Given the description of an element on the screen output the (x, y) to click on. 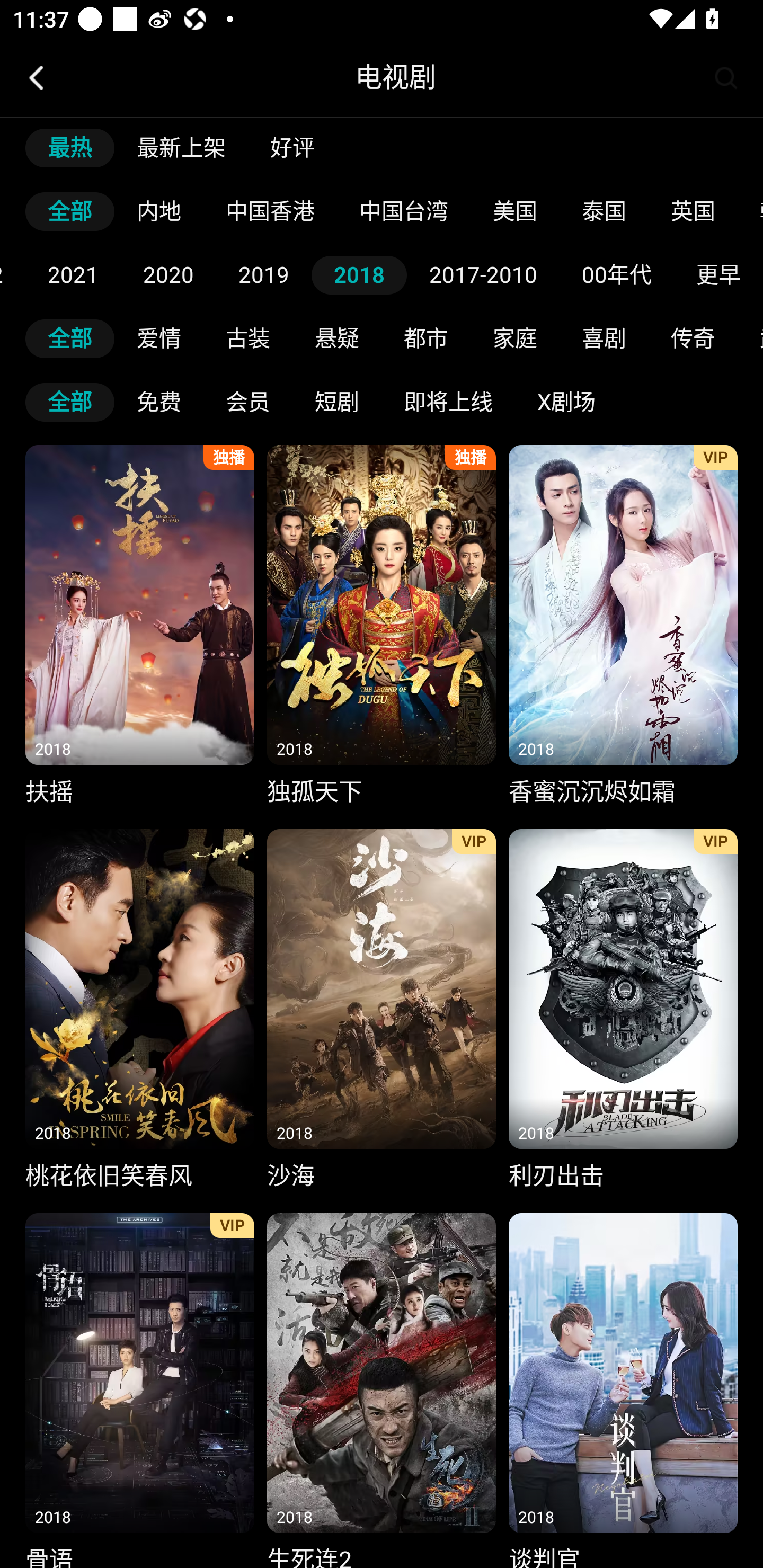
电视剧 (394, 77)
最热 (69, 147)
最新上架 (180, 147)
好评 (292, 147)
全部 (69, 211)
内地 (158, 211)
中国香港 (270, 211)
中国台湾 (403, 211)
美国 (514, 211)
泰国 (603, 211)
英国 (692, 211)
2021 (72, 274)
2020 (167, 274)
2019 (263, 274)
2018 (358, 274)
2017-2010 (482, 274)
00年代 (616, 274)
更早 (718, 274)
全部 (69, 338)
爱情 (158, 338)
古装 (247, 338)
悬疑 (336, 338)
都市 (425, 338)
家庭 (514, 338)
喜剧 (603, 338)
传奇 (692, 338)
全部 (69, 401)
免费 (158, 401)
会员 (247, 401)
短剧 (336, 401)
即将上线 (448, 401)
X剧场 (566, 401)
扶摇 (139, 627)
独孤天下 (381, 627)
香蜜沉沉烬如霜 (622, 627)
桃花依旧笑春风 (139, 1012)
沙海 (381, 1012)
利刃出击 (622, 1012)
骨语 (139, 1386)
生死连2 (381, 1386)
谈判官 (622, 1386)
